Given the description of an element on the screen output the (x, y) to click on. 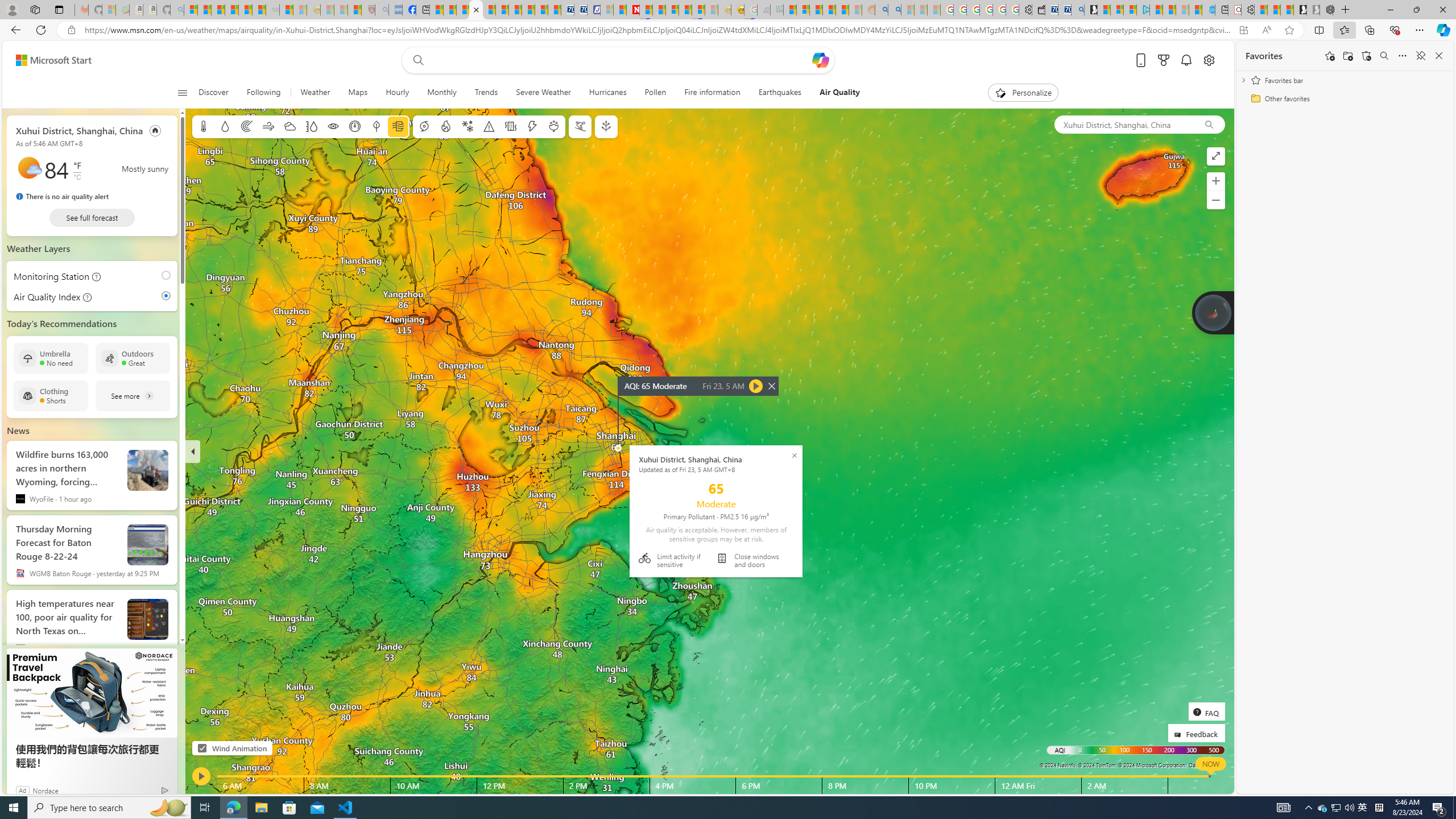
Earthquakes (779, 92)
Skip to content (49, 59)
Utah sues federal government - Search (894, 9)
Clouds (289, 126)
More options (1402, 55)
Bing Real Estate - Home sales and rental listings (1077, 9)
Radar (246, 126)
